Given the description of an element on the screen output the (x, y) to click on. 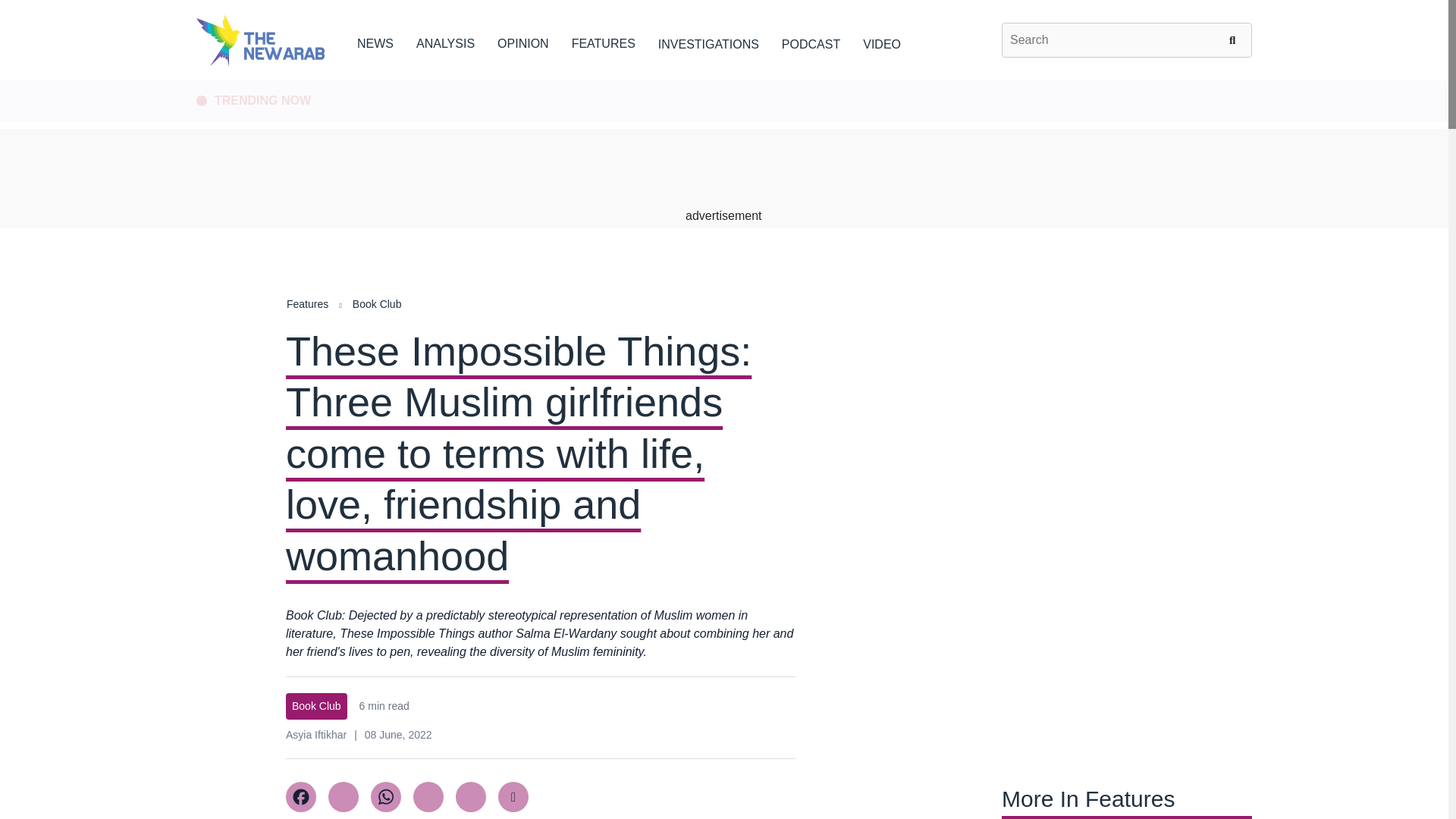
OPINION (523, 41)
Search (1234, 39)
NEWS (375, 41)
Skip to main content (724, 81)
ANALYSIS (445, 41)
